Given the description of an element on the screen output the (x, y) to click on. 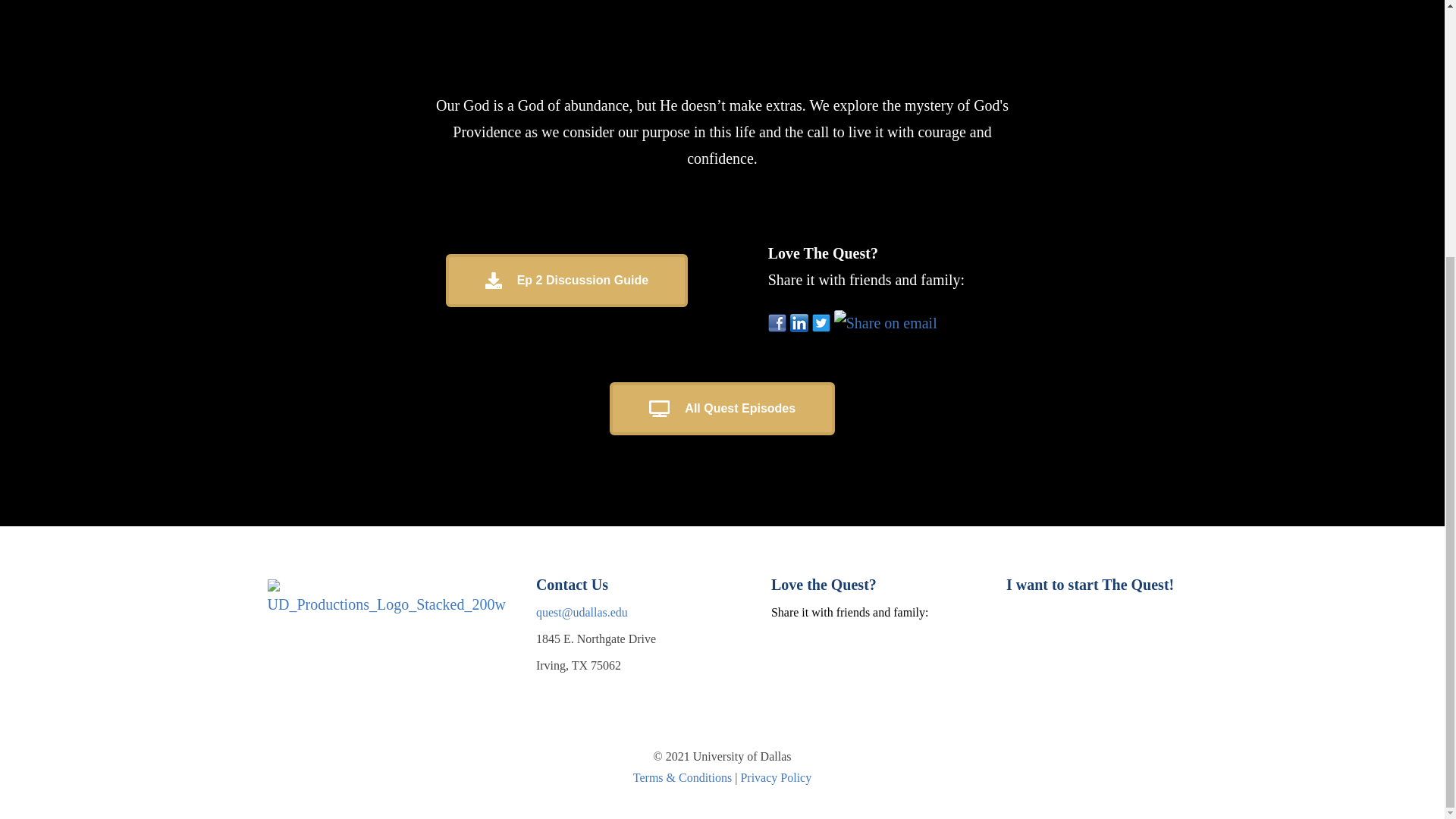
Privacy Policy (774, 777)
HubSpot Video (721, 42)
All Quest Episodes (722, 408)
Ep 2 Discussion Guide (566, 280)
